Given the description of an element on the screen output the (x, y) to click on. 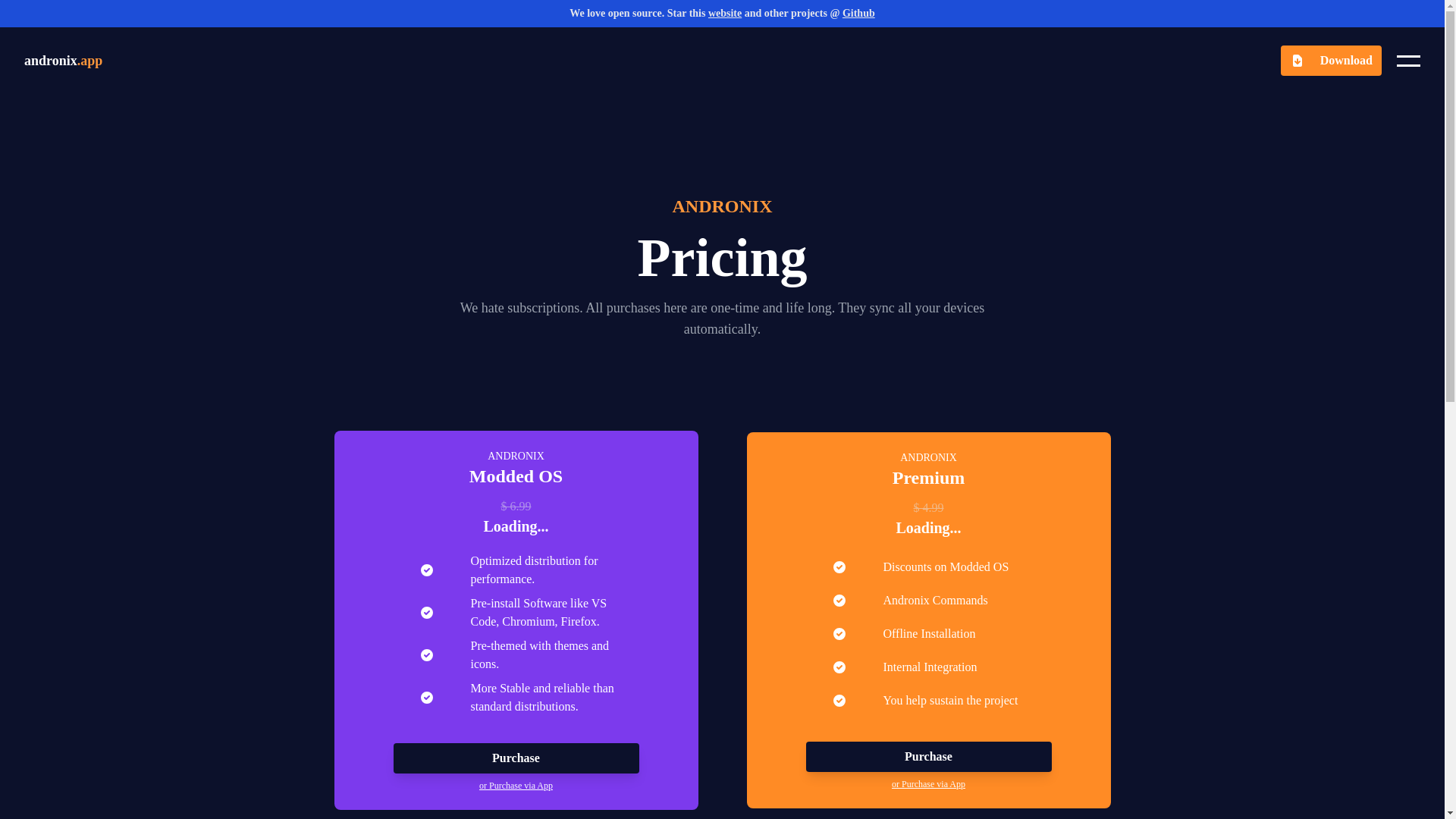
Github (859, 12)
Purchase (928, 757)
Purchase (516, 757)
Download (1331, 60)
website (724, 12)
